Given the description of an element on the screen output the (x, y) to click on. 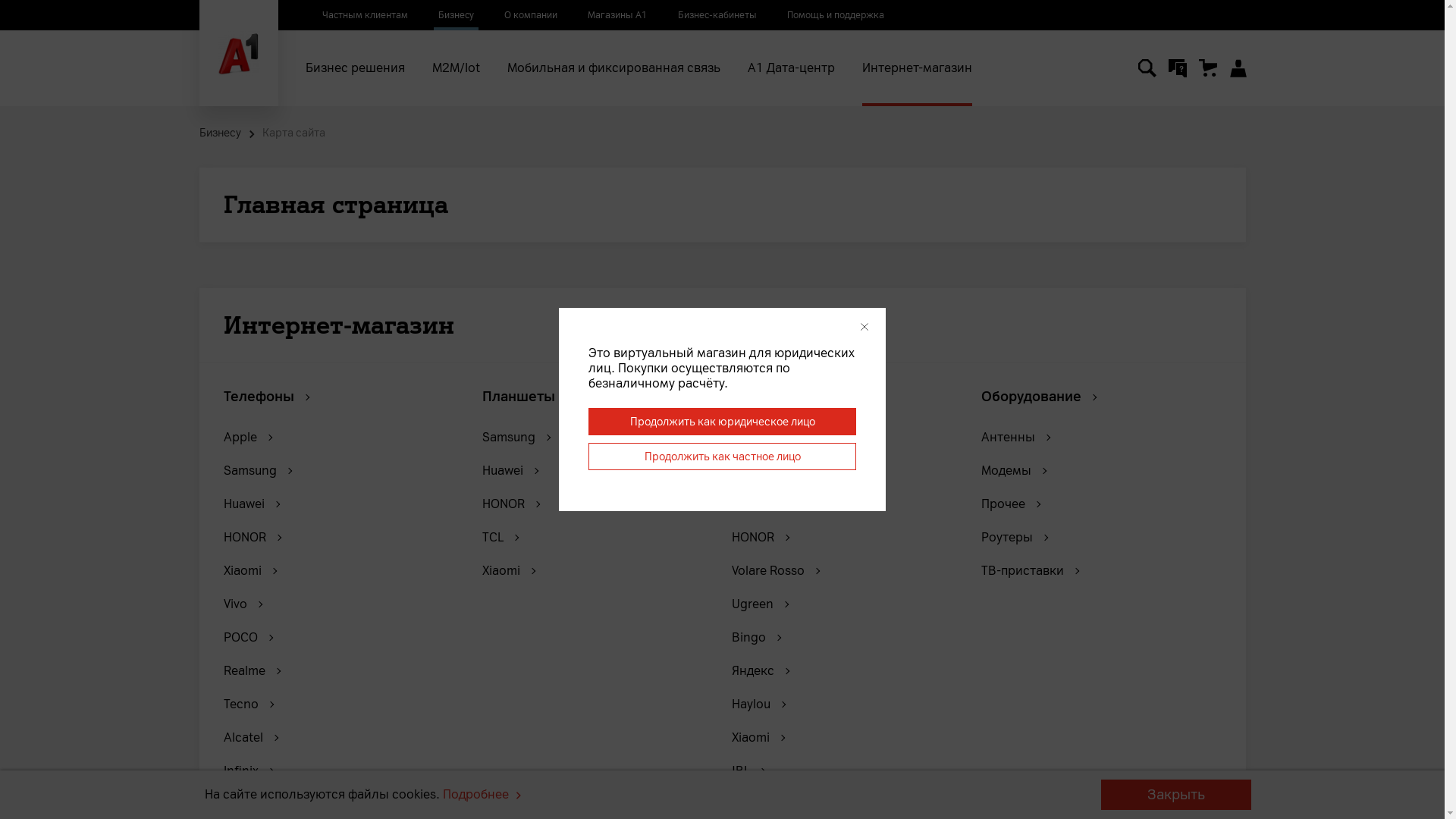
Apple Element type: text (246, 437)
Apple Element type: text (754, 437)
POCO Element type: text (246, 637)
Bingo Element type: text (755, 637)
HONOR Element type: text (510, 503)
A1 Element type: hover (237, 53)
Tecno Element type: text (247, 704)
Xiaomi Element type: text (757, 737)
Infinix Element type: text (247, 770)
Volare Rosso Element type: text (774, 570)
Realme Element type: text (250, 670)
TCL Element type: text (499, 537)
Red Line Element type: text (762, 804)
Huawei Element type: text (758, 503)
Alcatel Element type: text (249, 737)
Huawei Element type: text (509, 470)
Samsung Element type: text (764, 470)
Samsung Element type: text (515, 437)
Xiaomi Element type: text (248, 570)
Xiaomi Element type: text (508, 570)
Vivo Element type: text (241, 603)
HONOR Element type: text (759, 537)
Huawei Element type: text (250, 503)
JBL Element type: text (747, 770)
Samsung Element type: text (256, 470)
Ugreen Element type: text (759, 603)
HONOR Element type: text (250, 537)
Haylou Element type: text (757, 704)
